Given the description of an element on the screen output the (x, y) to click on. 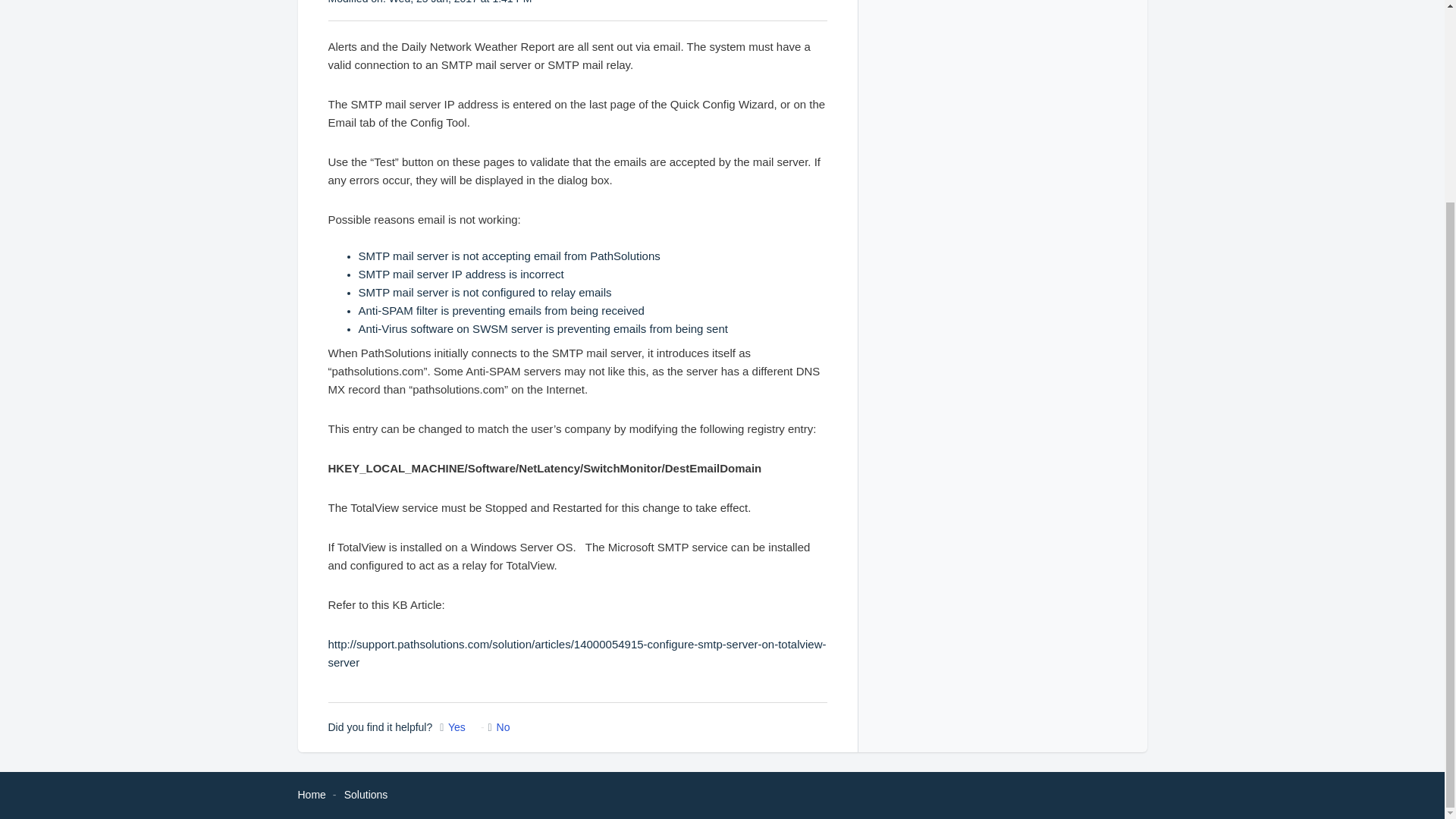
Solutions (365, 794)
Home (310, 794)
